Given the description of an element on the screen output the (x, y) to click on. 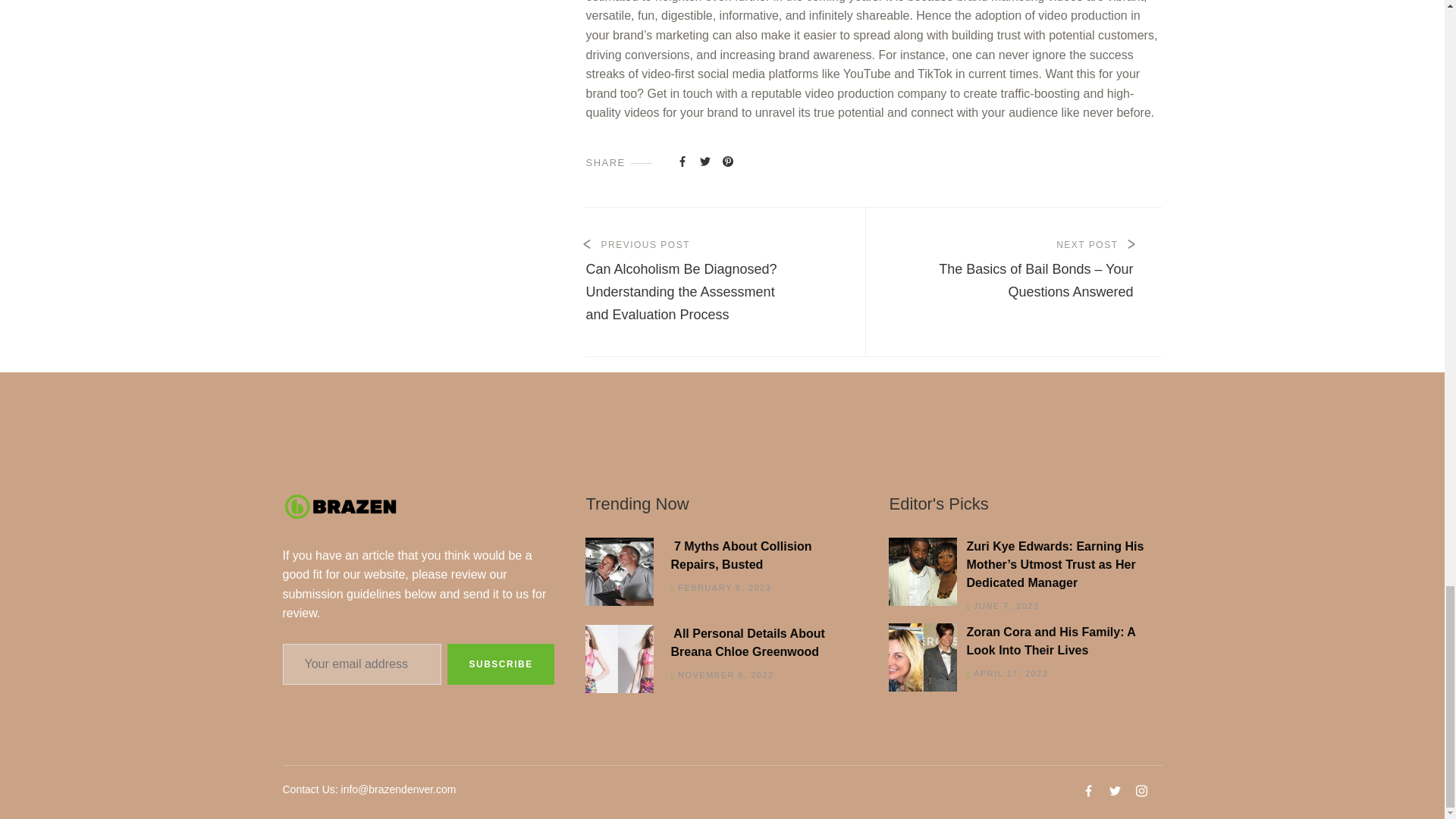
 7 Myths About Collision Repairs, Busted  (717, 555)
Zoran Cora and His Family: A Look Into Their Lives (1021, 641)
SUBSCRIBE (499, 663)
 All Personal Details About Breana Chloe Greenwood (717, 642)
